Given the description of an element on the screen output the (x, y) to click on. 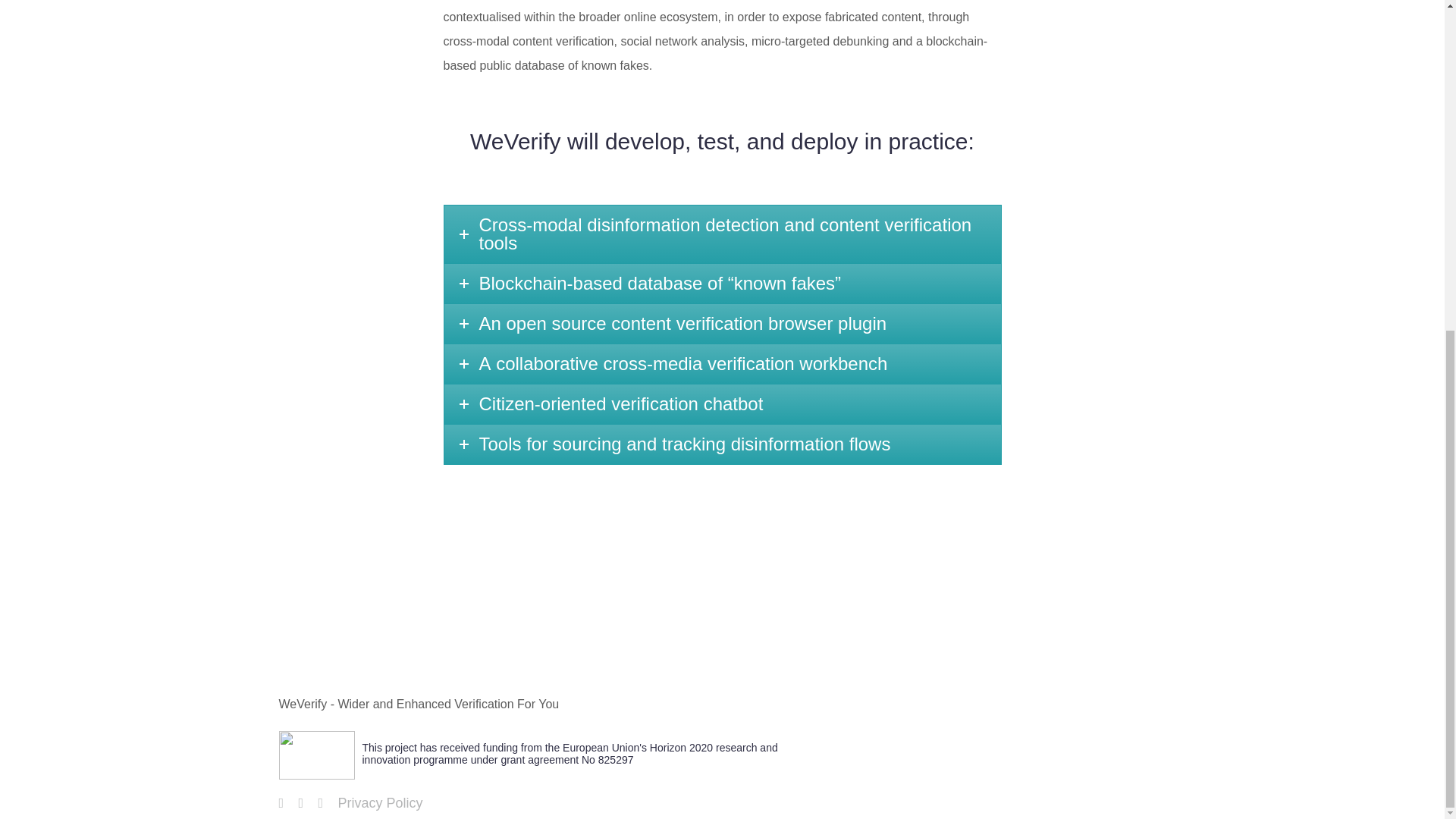
Tools for sourcing and tracking disinformation flows (722, 444)
An open source content verification browser plugin (722, 323)
Citizen-oriented verification chatbot (722, 404)
Privacy Policy (380, 802)
